Given the description of an element on the screen output the (x, y) to click on. 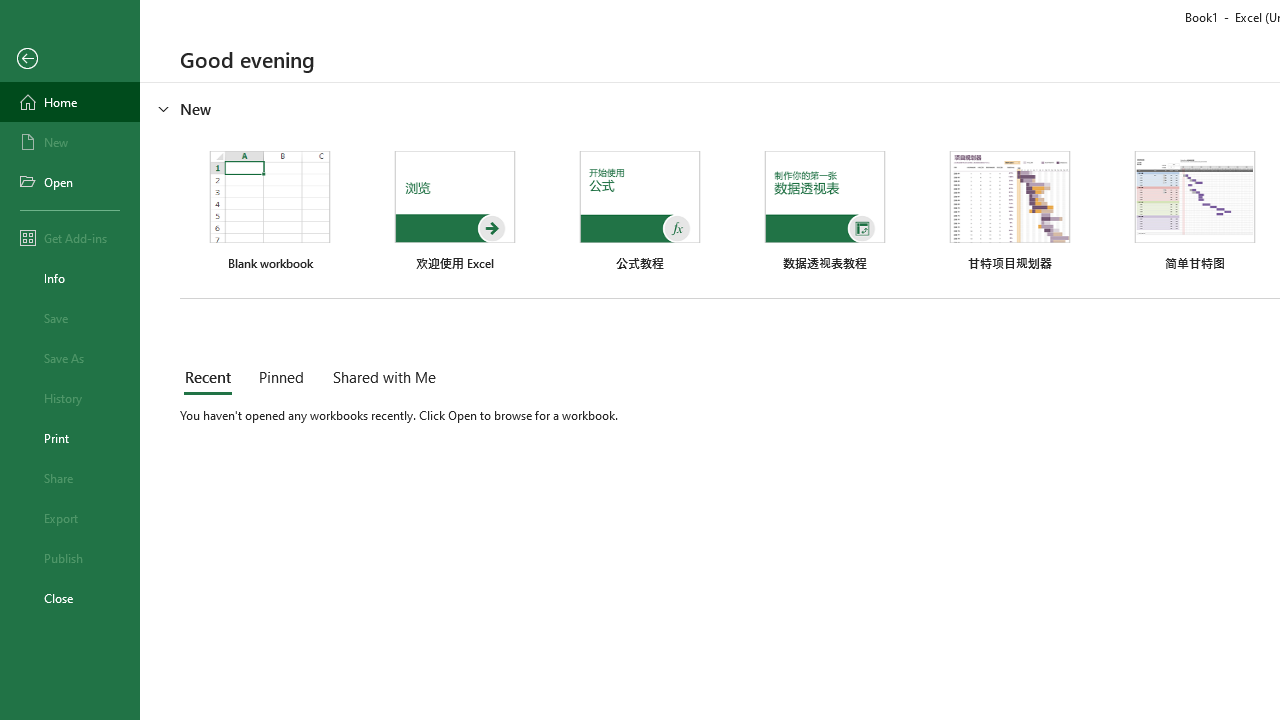
Back (69, 59)
Info (69, 277)
New (69, 141)
Export (69, 517)
Pinned (280, 378)
Save As (69, 357)
